Given the description of an element on the screen output the (x, y) to click on. 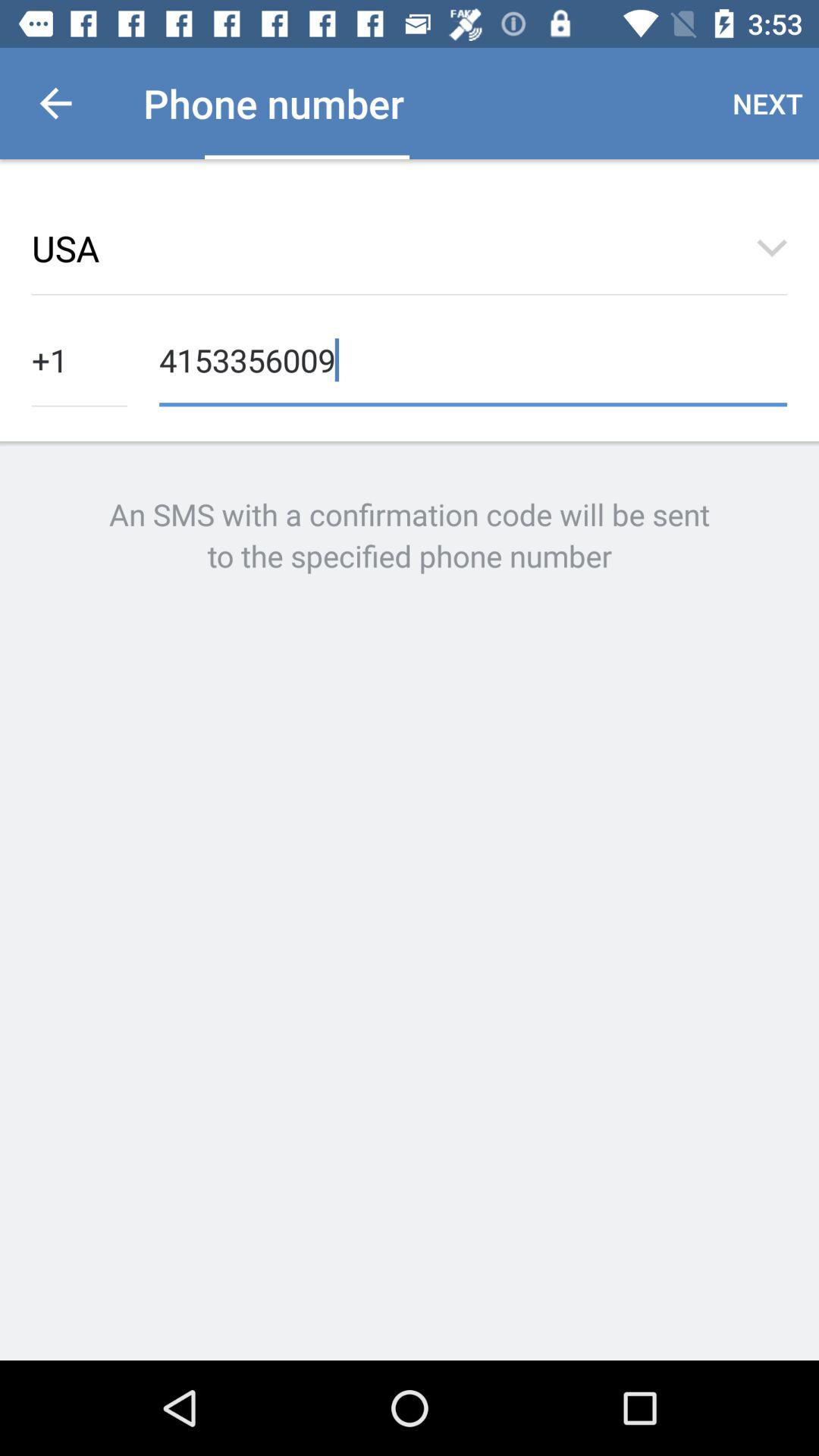
click the item next to 4153356009 icon (79, 358)
